Given the description of an element on the screen output the (x, y) to click on. 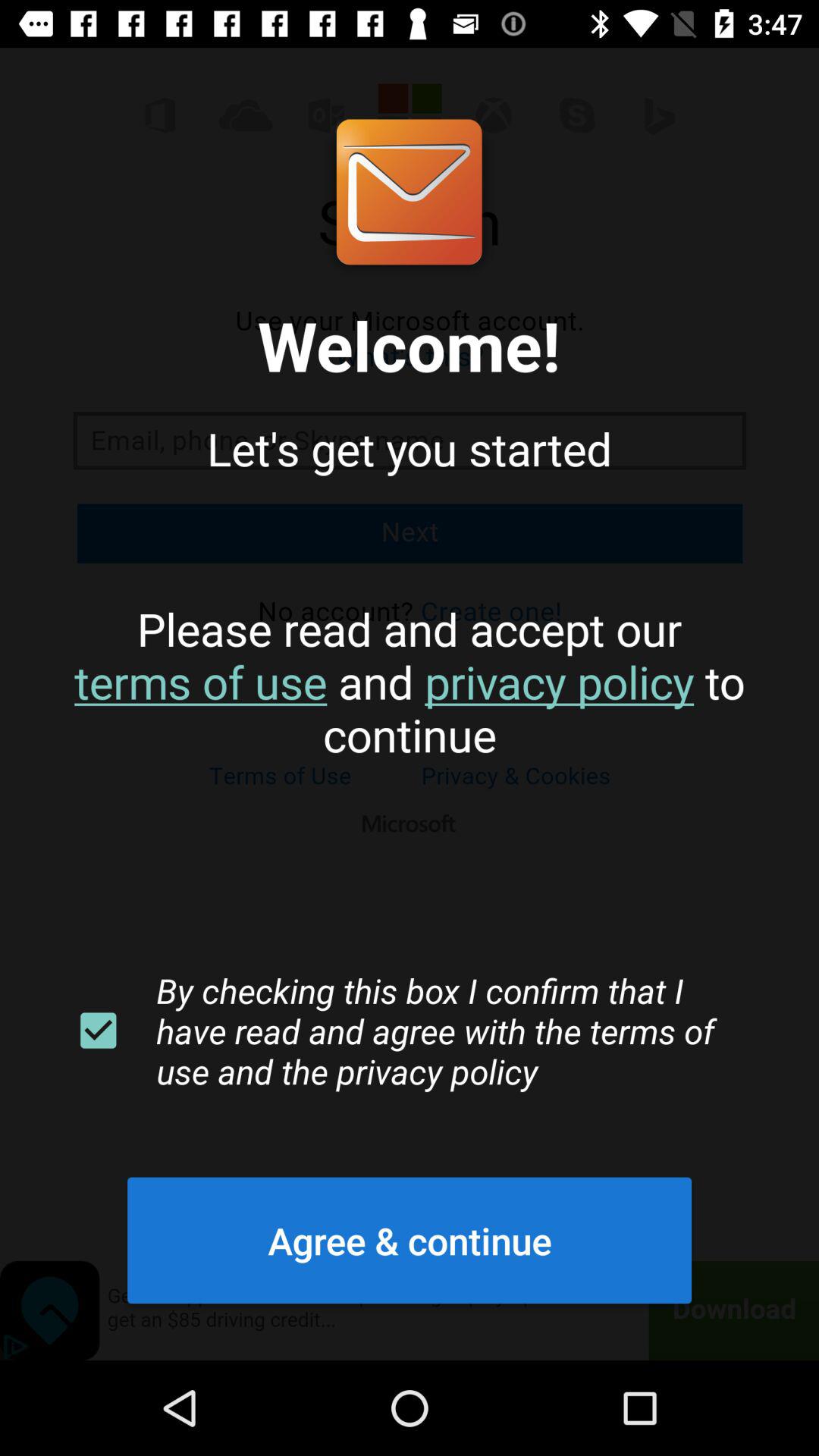
click button above agree & continue icon (98, 1030)
